Given the description of an element on the screen output the (x, y) to click on. 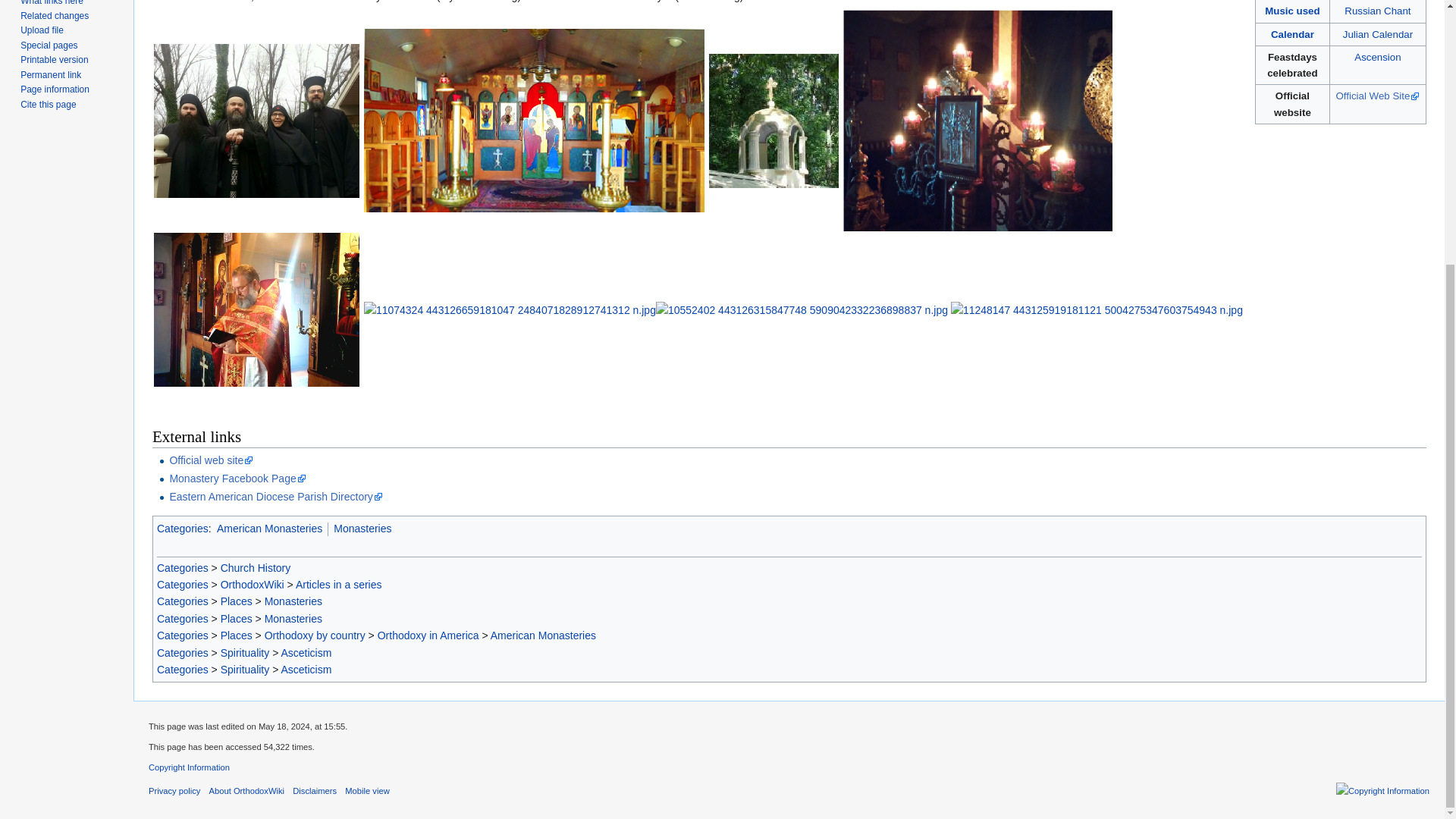
Monastery Facebook Page (236, 478)
Julian Calendar (1377, 34)
Calendar (1292, 34)
Official web site (210, 460)
Julian Calendar (1377, 34)
Official Web Site (1378, 95)
Church Music (1292, 10)
Church Calendar (1292, 34)
Russian Chant (1376, 10)
Music used (1292, 10)
